Given the description of an element on the screen output the (x, y) to click on. 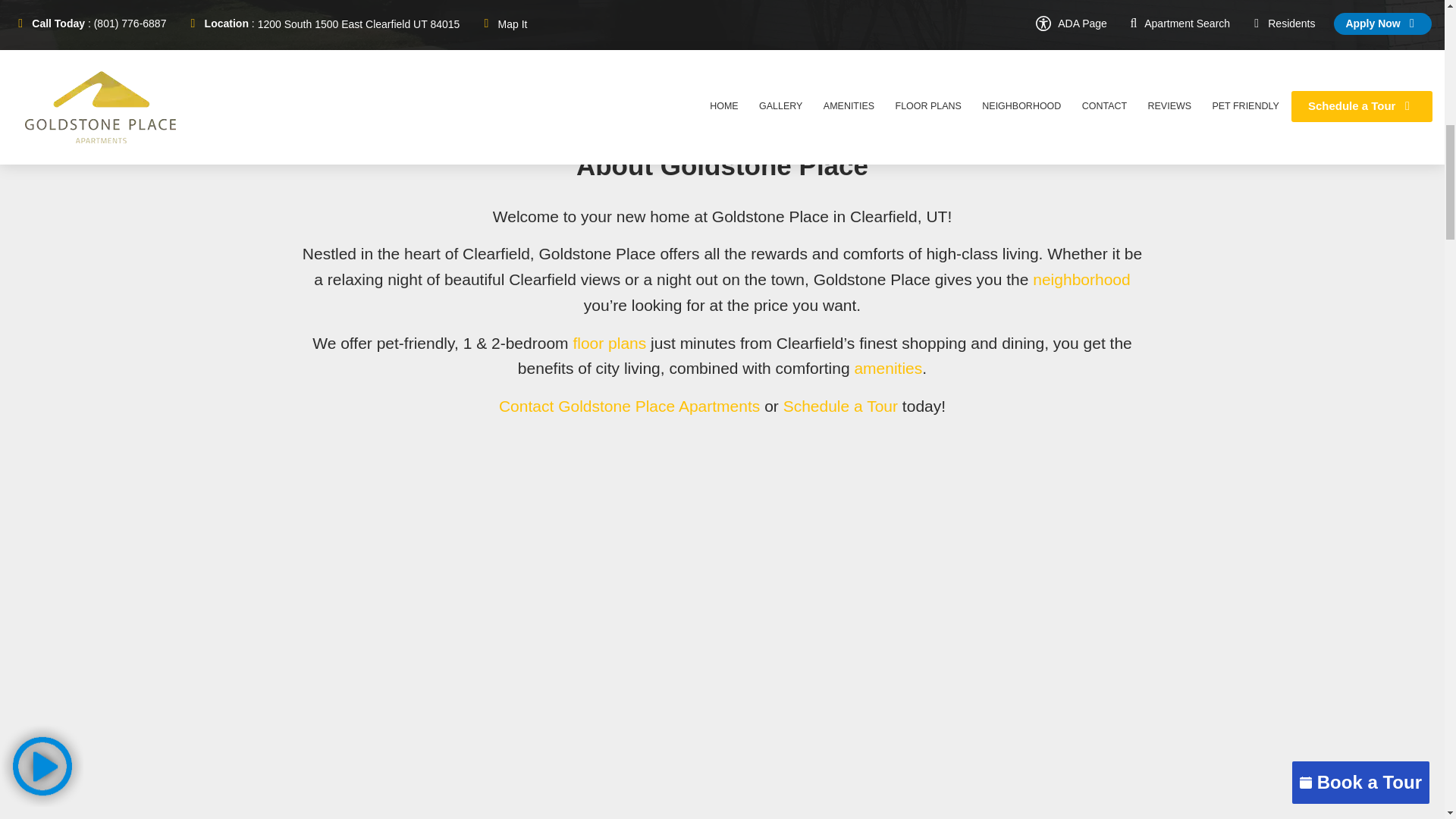
floor plans (609, 343)
Schedule a Tour (840, 405)
Contact Goldstone Place Apartments (631, 405)
amenities (887, 367)
neighborhood (1080, 279)
